Given the description of an element on the screen output the (x, y) to click on. 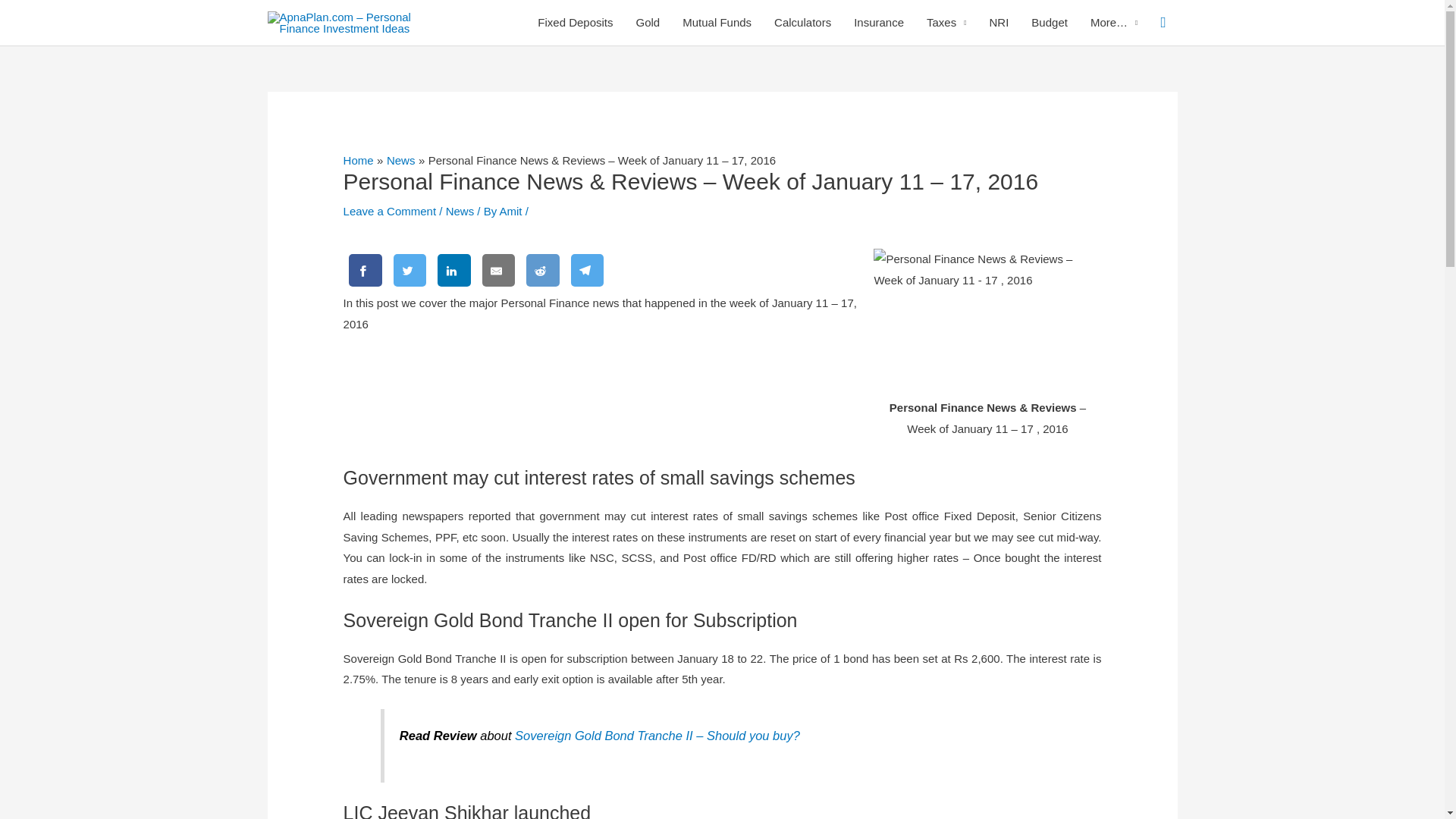
Gold (647, 22)
Mutual Funds (716, 22)
NRI (999, 22)
View all posts by Amit (512, 210)
Leave a Comment (389, 210)
News (459, 210)
Home (358, 160)
Insurance (879, 22)
Fixed Deposits (574, 22)
Budget (1049, 22)
